Given the description of an element on the screen output the (x, y) to click on. 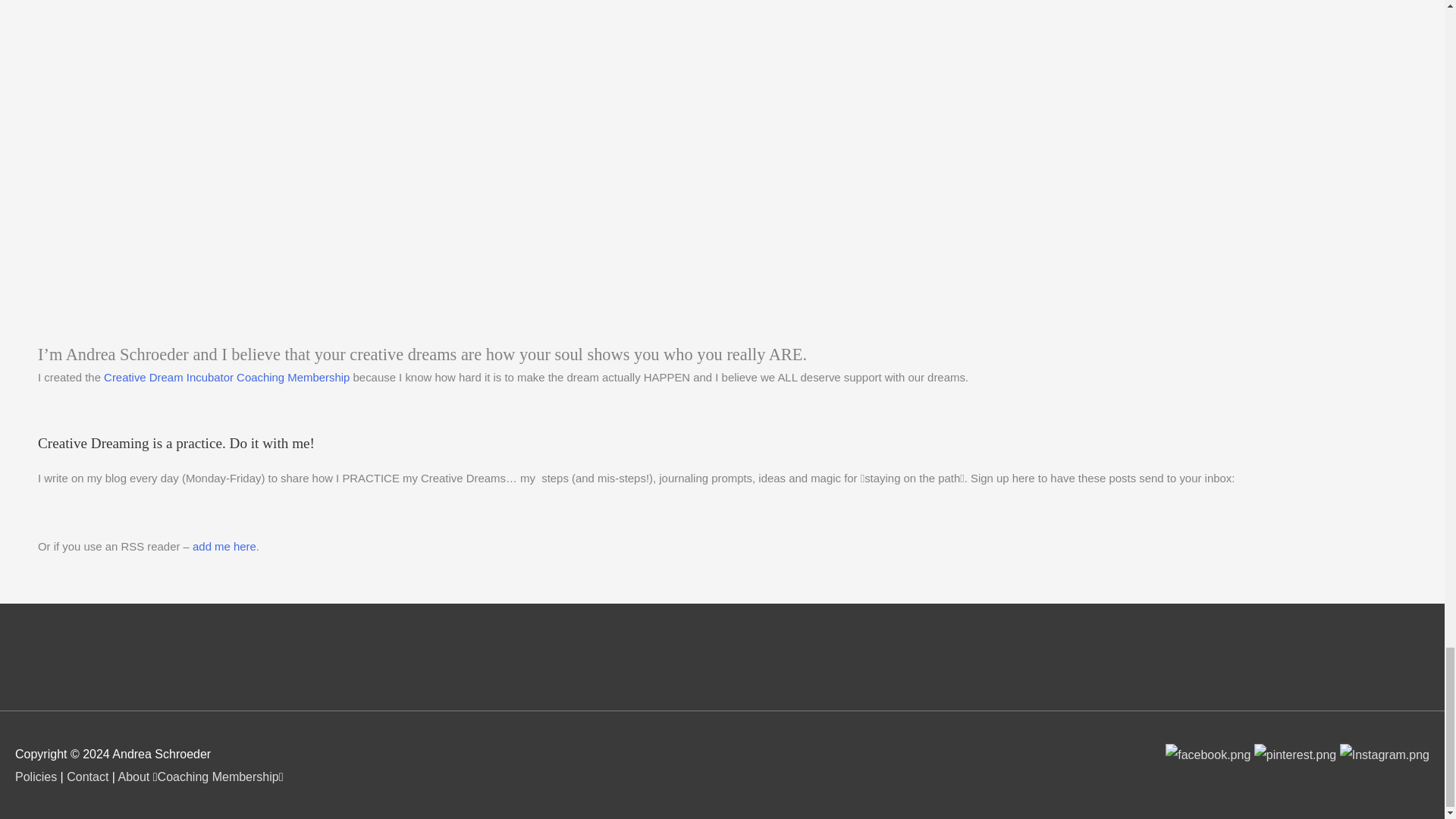
Contact (86, 776)
About (133, 776)
Policies (35, 776)
Coaching Membership (218, 776)
add me here (224, 545)
Creative Dream Incubator Coaching Membership (226, 377)
